Given the description of an element on the screen output the (x, y) to click on. 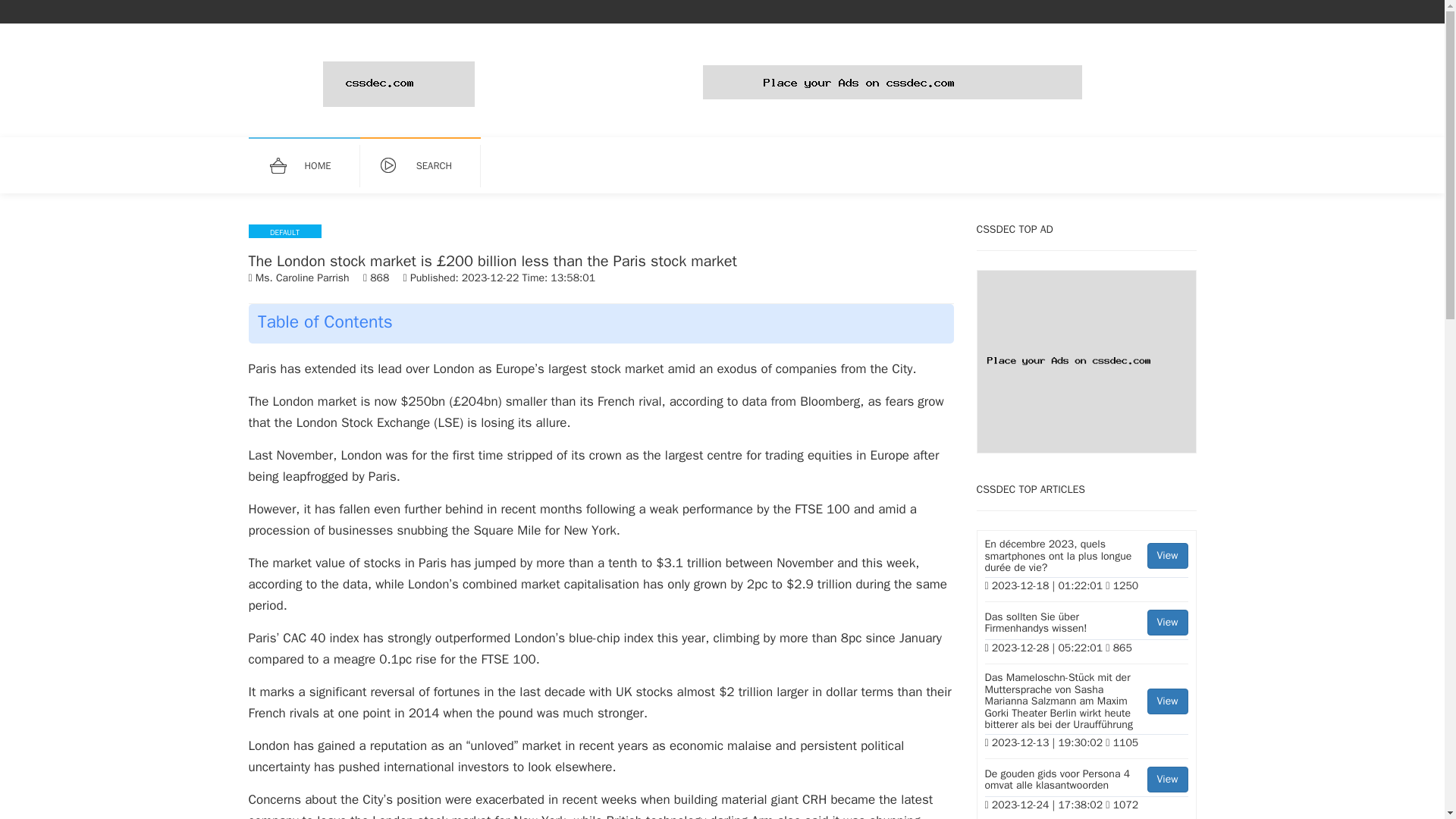
SEARCH (427, 165)
View (1167, 622)
View (1167, 555)
DEFAULT (284, 231)
HOME (311, 165)
View (1086, 781)
View (1167, 701)
De gouden gids voor Persona 4 omvat alle klasantwoorden (1167, 779)
